Given the description of an element on the screen output the (x, y) to click on. 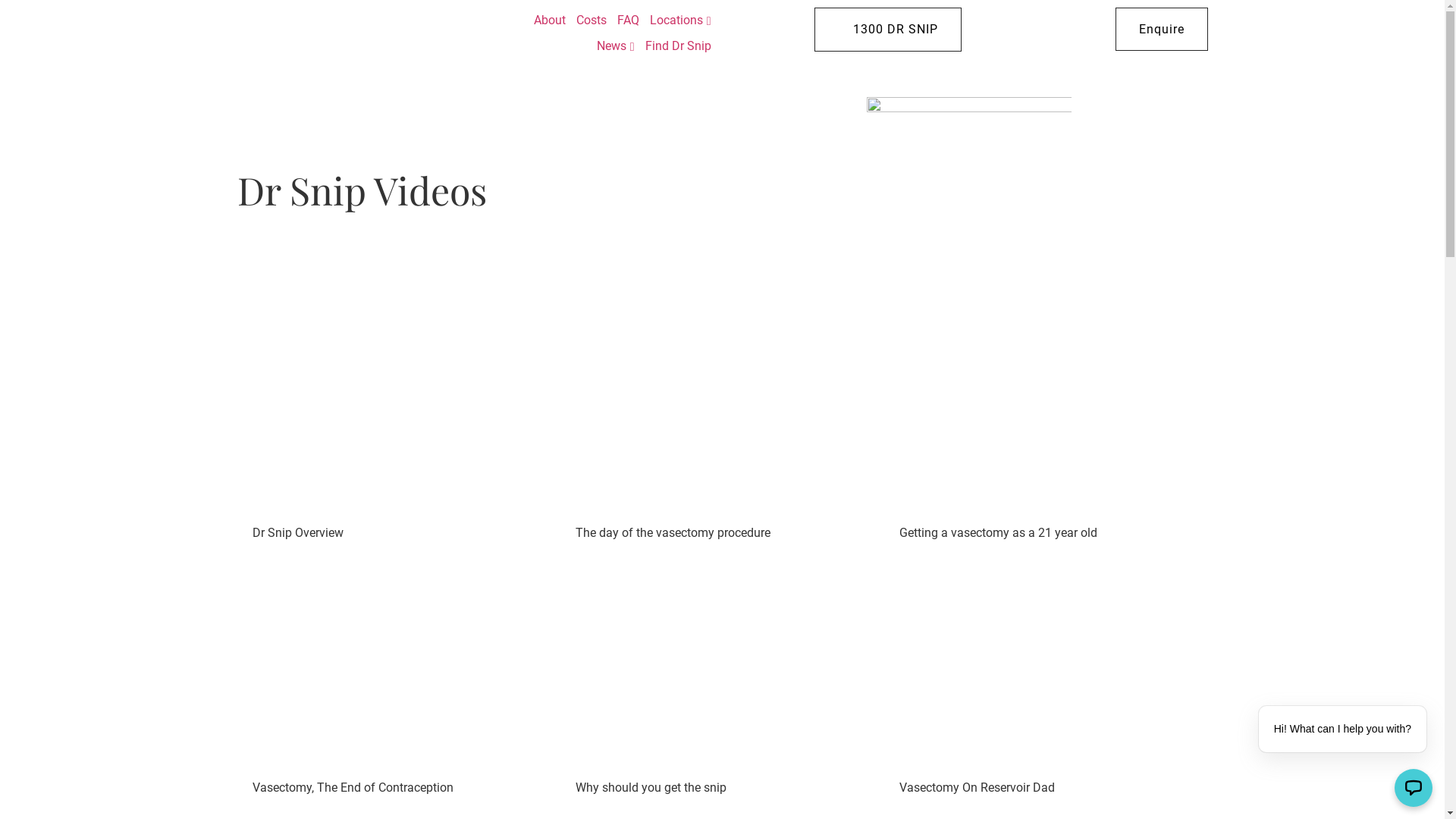
About Element type: text (549, 20)
Find Dr Snip Element type: text (677, 46)
Locations Element type: text (680, 20)
Costs Element type: text (591, 20)
FAQ Element type: text (628, 20)
1300 DR SNIP Element type: text (887, 29)
Enquire Element type: text (1160, 28)
News Element type: text (615, 46)
